Given the description of an element on the screen output the (x, y) to click on. 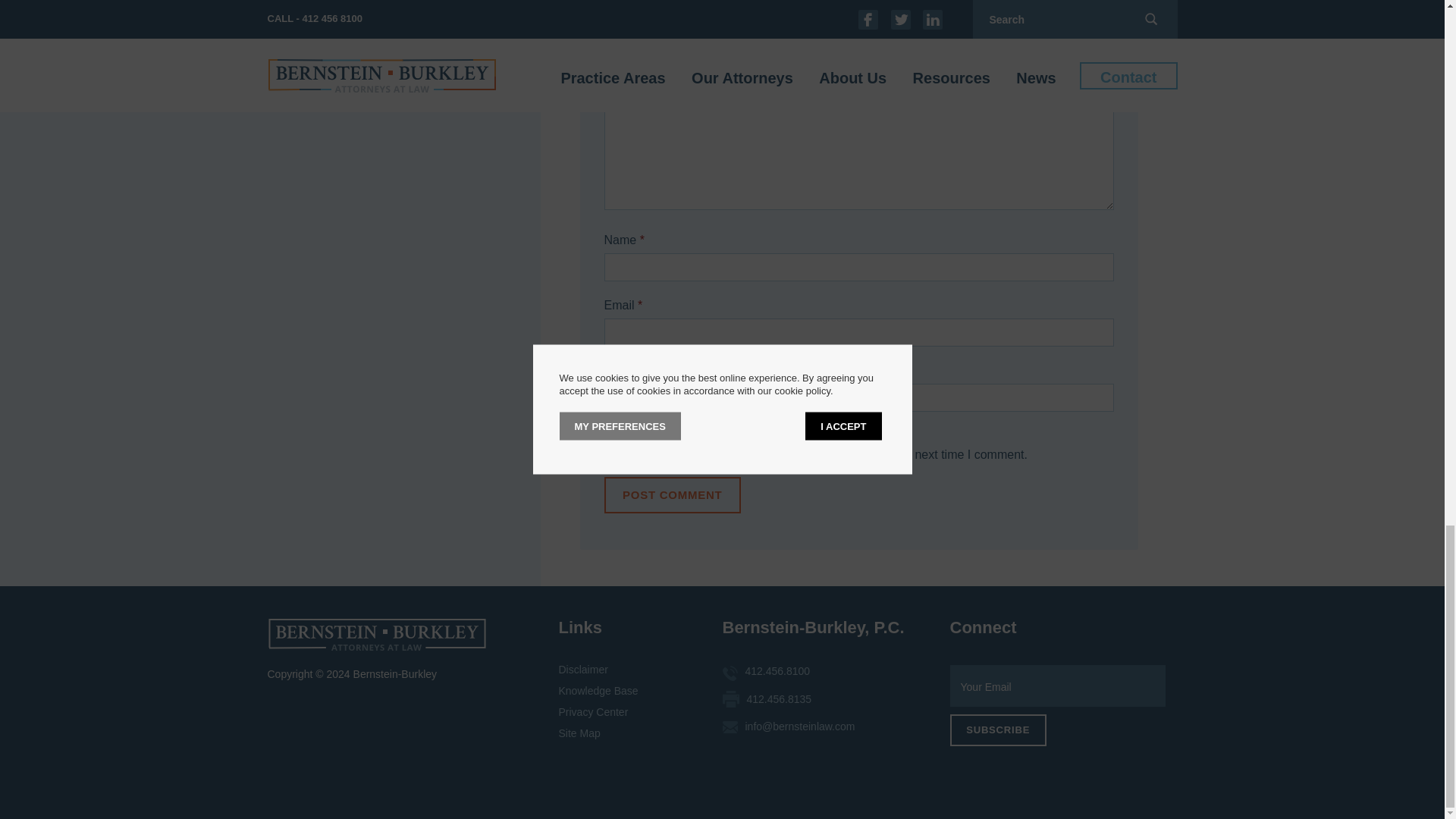
Post Comment (672, 494)
yes (608, 434)
Subscribe (997, 730)
